Given the description of an element on the screen output the (x, y) to click on. 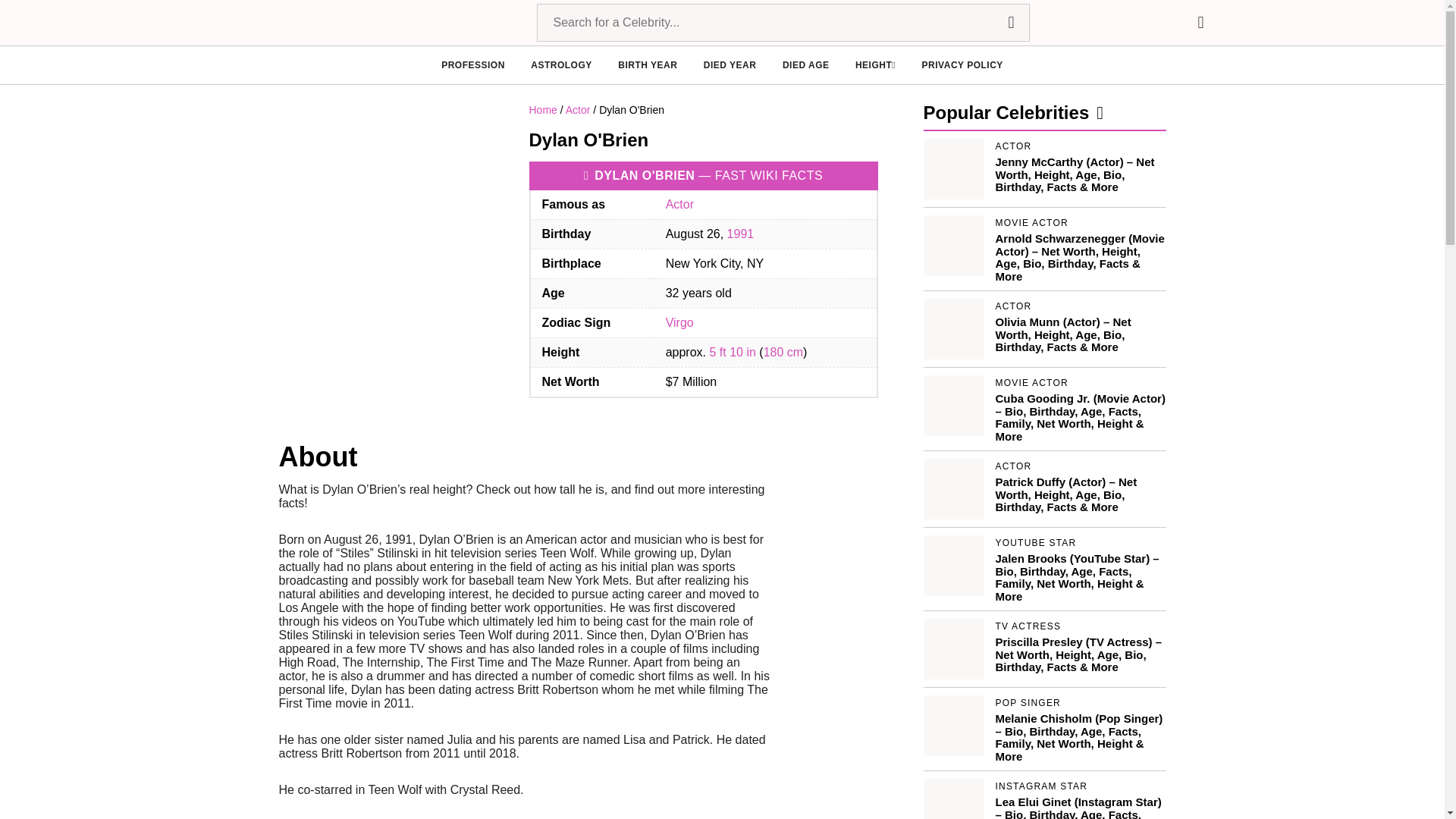
1991 (740, 233)
PROFESSION (473, 64)
5 ft 10 in (732, 351)
Actor (578, 110)
Virgo (679, 322)
ASTROLOGY (561, 64)
180 cm (782, 351)
DIED YEAR (730, 64)
PRIVACY POLICY (962, 64)
Search (1010, 22)
Actor (679, 204)
HEIGHT (875, 64)
Random (1200, 22)
BIRTH YEAR (647, 64)
Home (543, 110)
